Given the description of an element on the screen output the (x, y) to click on. 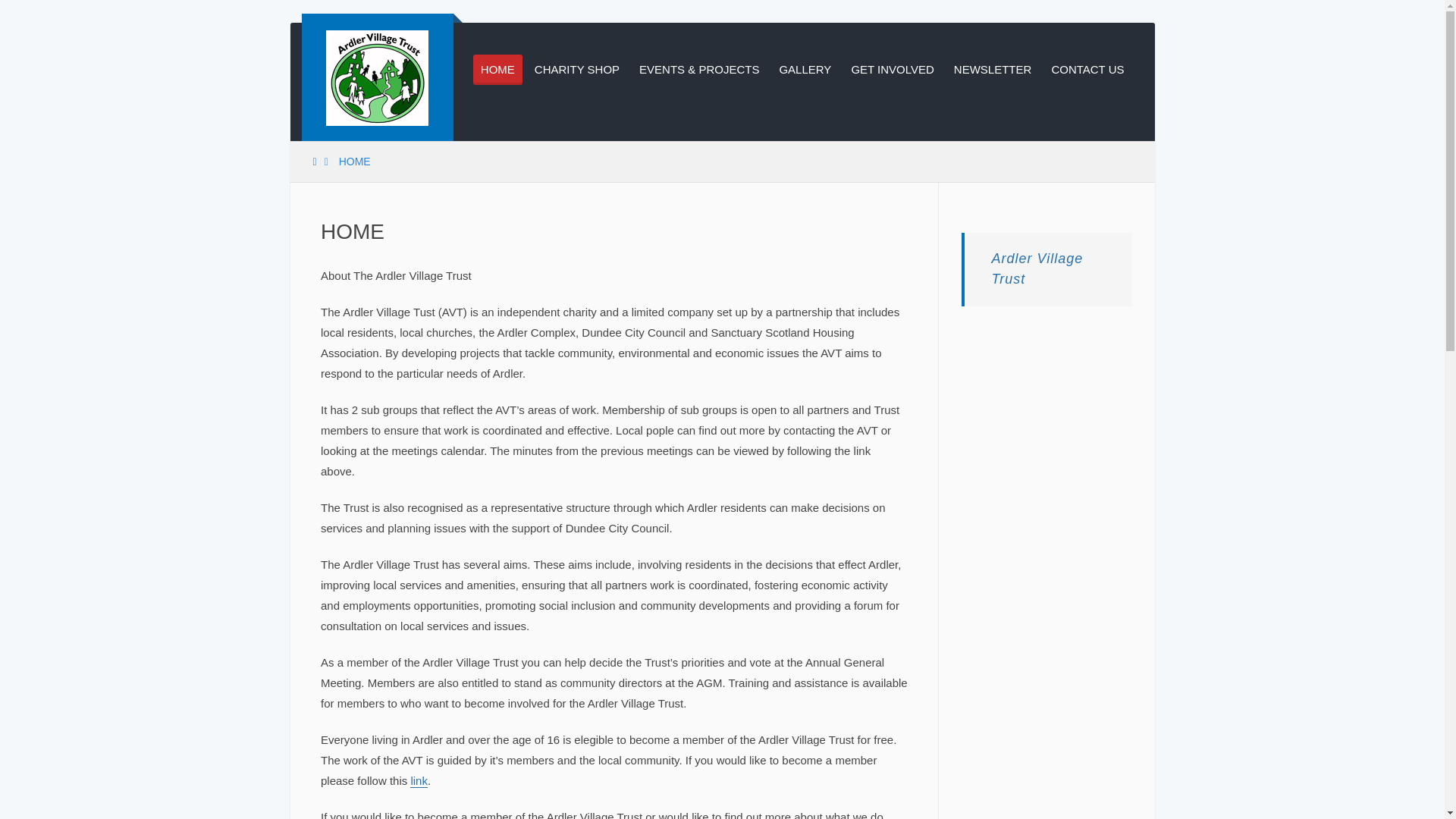
GALLERY (804, 69)
link (419, 780)
HOME (497, 69)
CHARITY SHOP (577, 69)
Skip to content (339, 31)
